Given the description of an element on the screen output the (x, y) to click on. 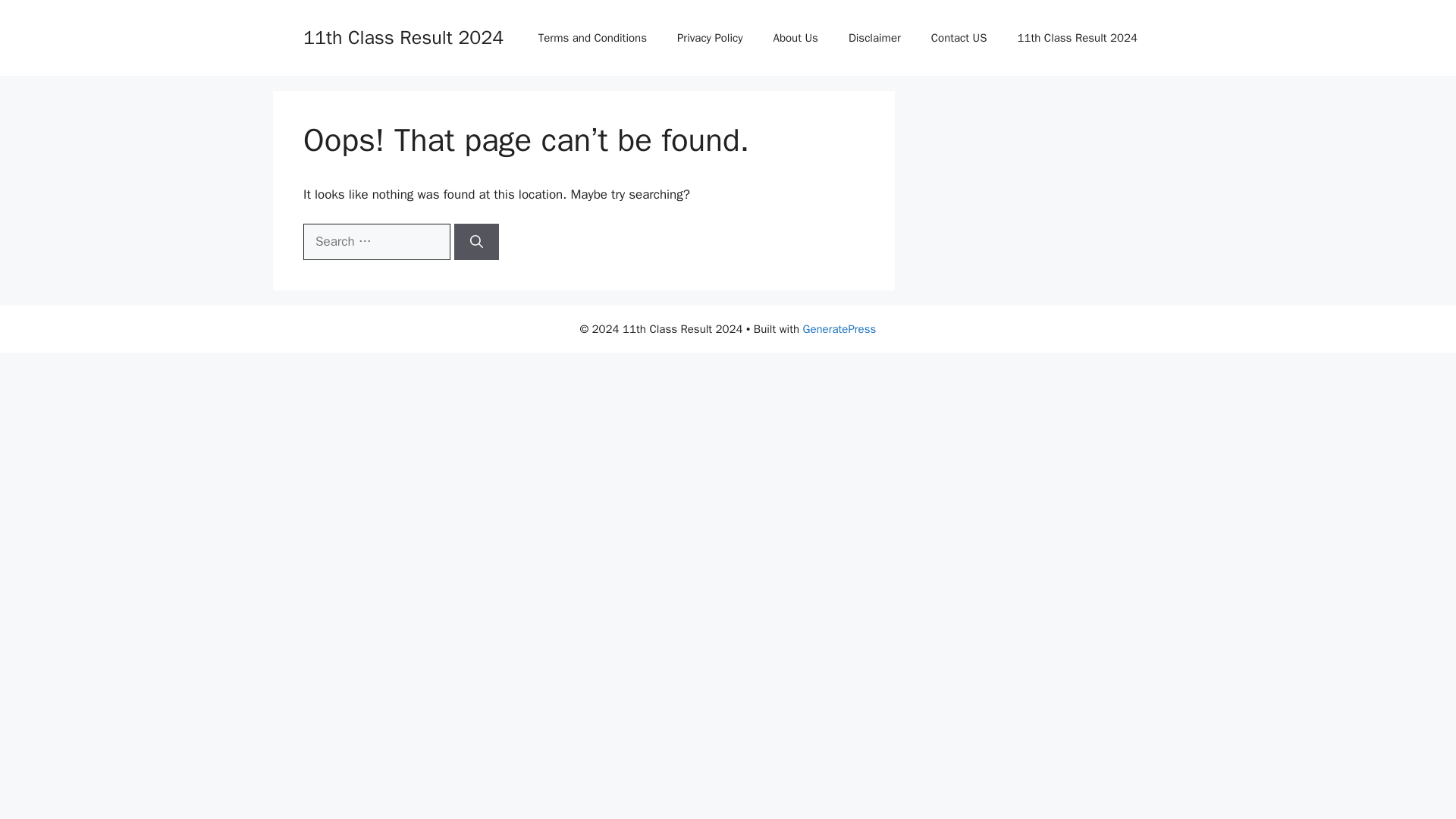
Privacy Policy (710, 37)
Search for: (375, 241)
About Us (795, 37)
11th Class Result 2024 (402, 37)
GeneratePress (839, 328)
Contact US (959, 37)
11th Class Result 2024 (1077, 37)
Terms and Conditions (592, 37)
Disclaimer (873, 37)
